Given the description of an element on the screen output the (x, y) to click on. 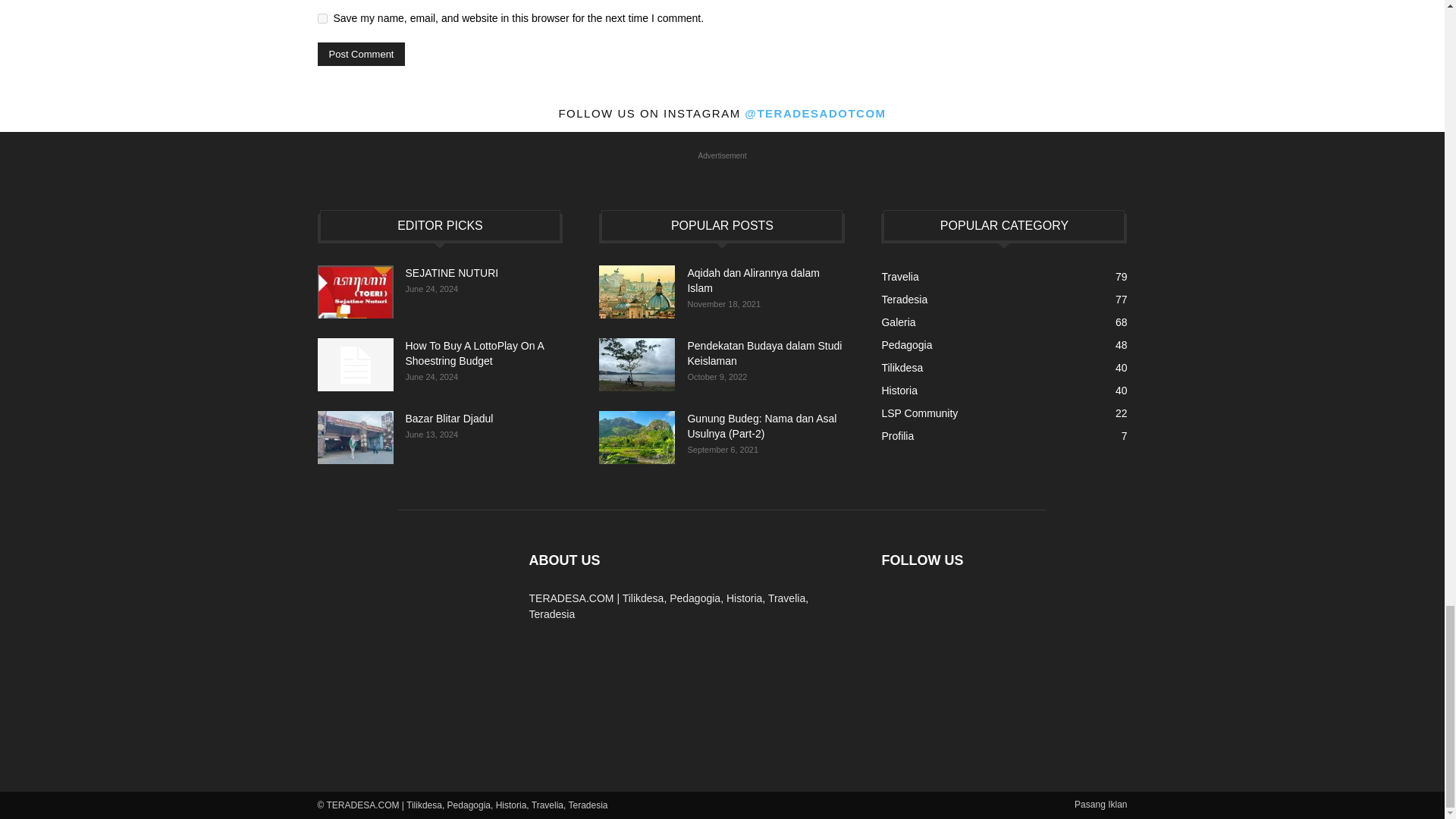
Post Comment (360, 54)
yes (321, 18)
